Given the description of an element on the screen output the (x, y) to click on. 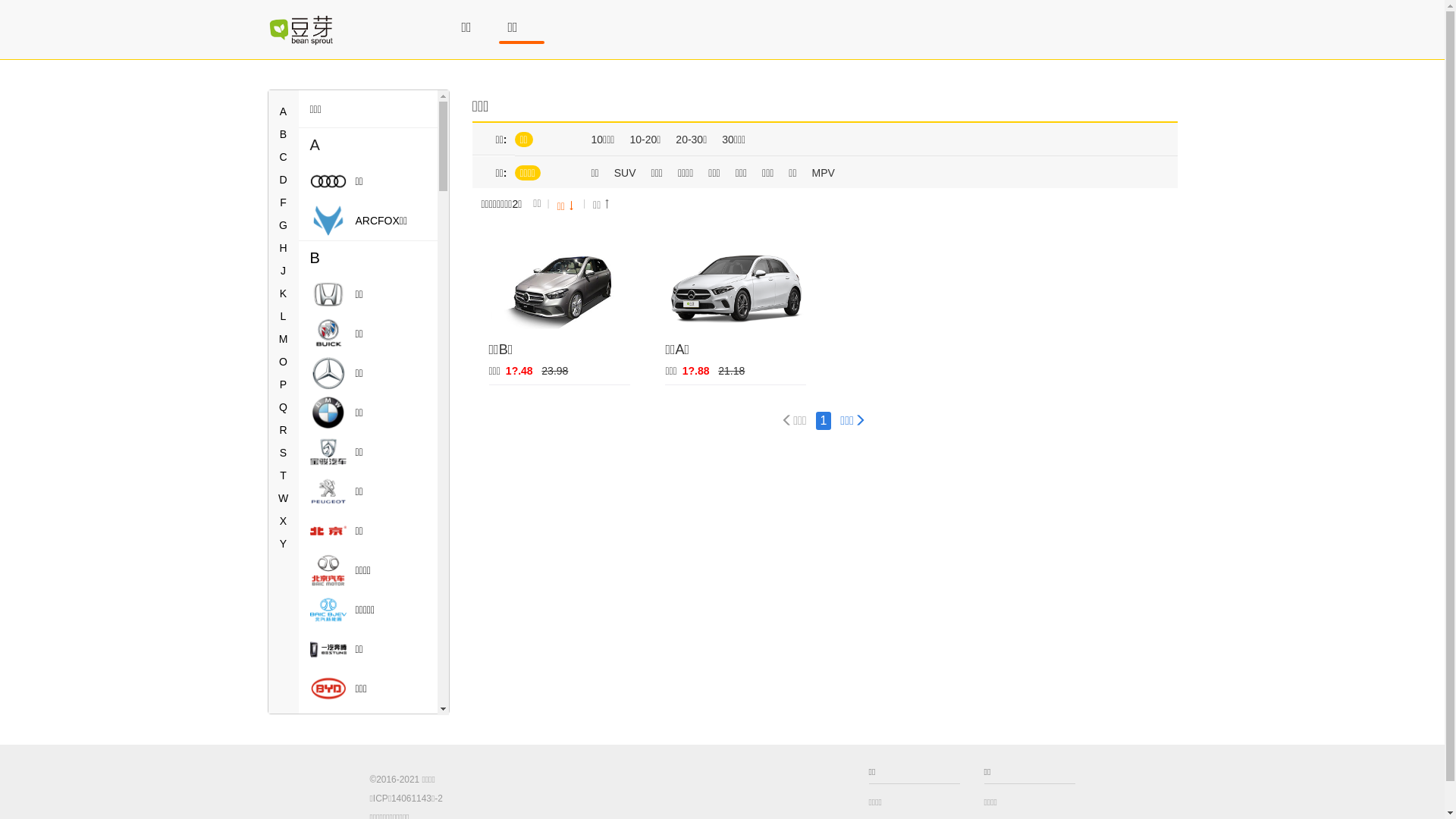
1 Element type: text (823, 420)
B Element type: text (367, 257)
O Element type: text (283, 361)
X Element type: text (282, 520)
B Element type: text (282, 134)
G Element type: text (283, 225)
H Element type: text (282, 247)
A Element type: text (282, 111)
W Element type: text (283, 498)
M Element type: text (283, 338)
C Element type: text (282, 156)
D Element type: text (282, 179)
F Element type: text (282, 202)
SUV Element type: text (624, 172)
Y Element type: text (282, 543)
S Element type: text (282, 452)
P Element type: text (282, 384)
L Element type: text (283, 316)
R Element type: text (282, 429)
K Element type: text (282, 293)
Q Element type: text (283, 407)
MPV Element type: text (823, 172)
J Element type: text (282, 270)
T Element type: text (282, 475)
